Given the description of an element on the screen output the (x, y) to click on. 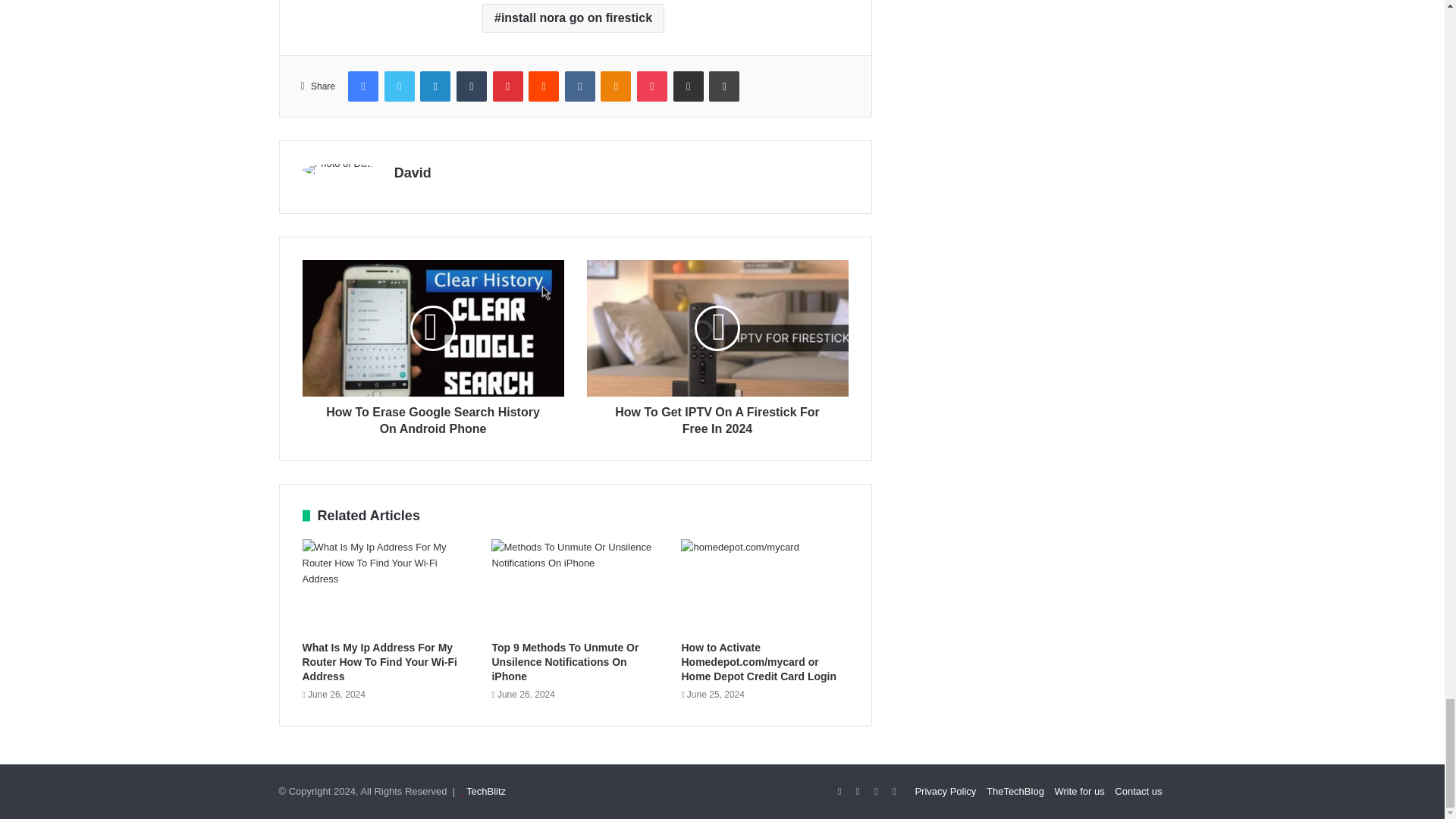
LinkedIn (434, 85)
Reddit (543, 85)
Facebook (362, 85)
Pocket (651, 85)
install nora go on firestick (572, 18)
Tumblr (471, 85)
Odnoklassniki (614, 85)
VKontakte (579, 85)
Tumblr (471, 85)
Twitter (399, 85)
